Given the description of an element on the screen output the (x, y) to click on. 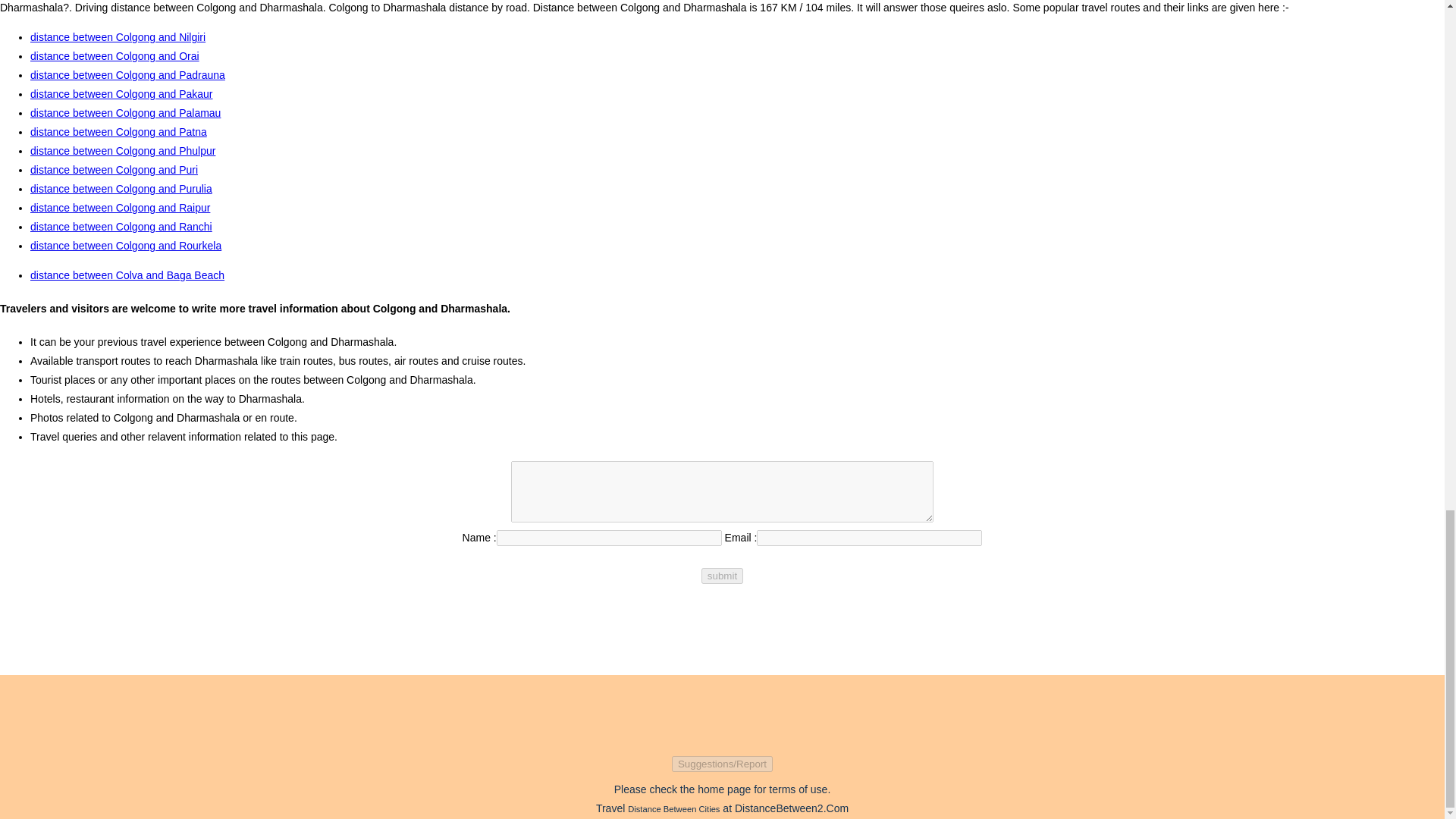
distance between Colgong and Puri (114, 169)
Advertisement (721, 632)
distance between Colva and Baga Beach (127, 275)
distance between Colgong and Raipur (119, 207)
distance between Colgong and Padrauna (127, 74)
distance between Colgong and Patna (118, 132)
distance between Colgong and Purulia (121, 188)
Advertisement (721, 708)
distance between Colgong and Rourkela (125, 245)
submit (721, 575)
